Given the description of an element on the screen output the (x, y) to click on. 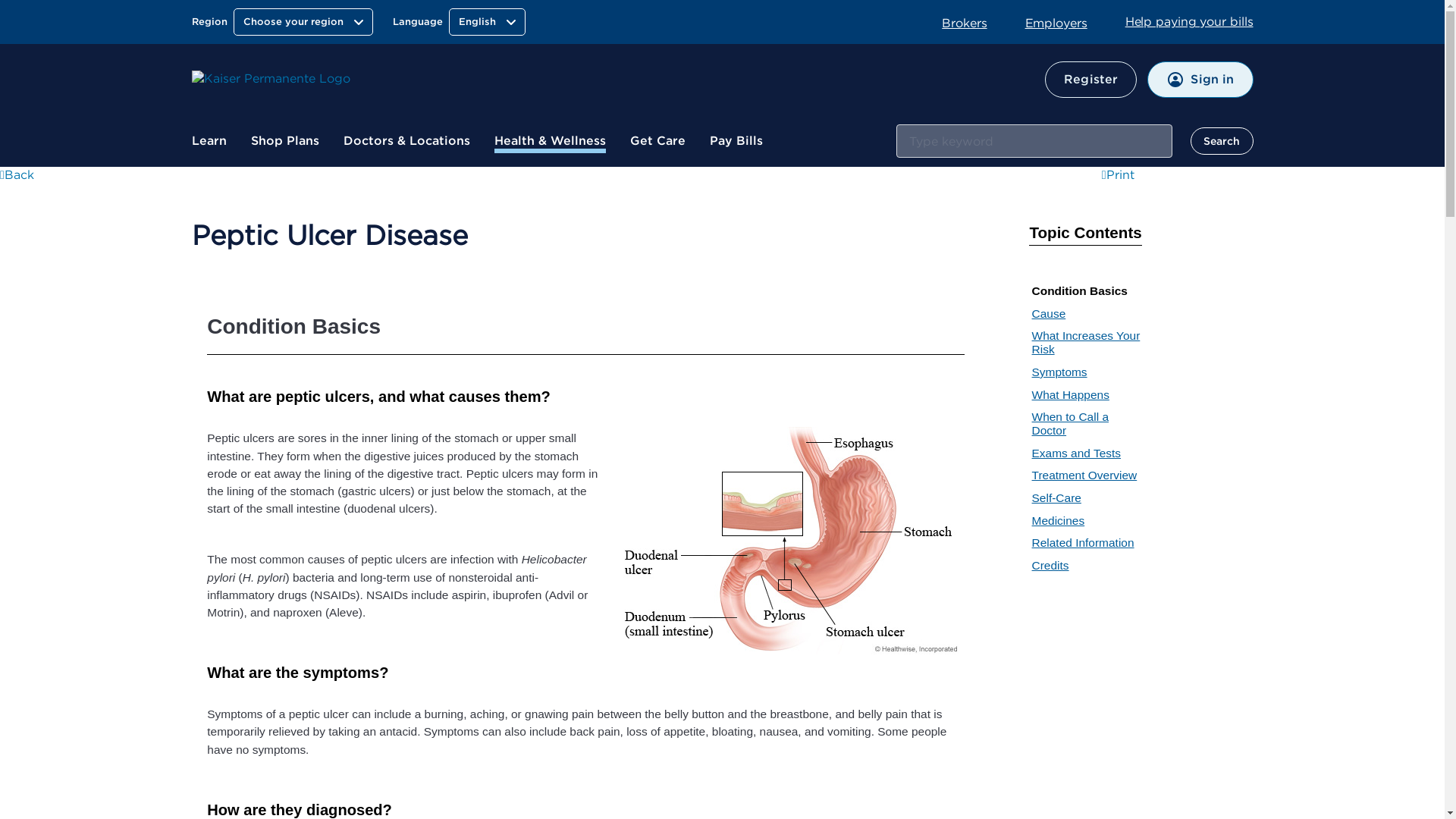
Get Care (656, 140)
English (486, 22)
Pay Bills (736, 140)
Shop Plans (284, 140)
Opens in a new window, external (1128, 174)
Learn (207, 140)
Employers (1065, 22)
Help paying your bills (1189, 21)
Brokers (974, 22)
Choose your region (302, 22)
